Given the description of an element on the screen output the (x, y) to click on. 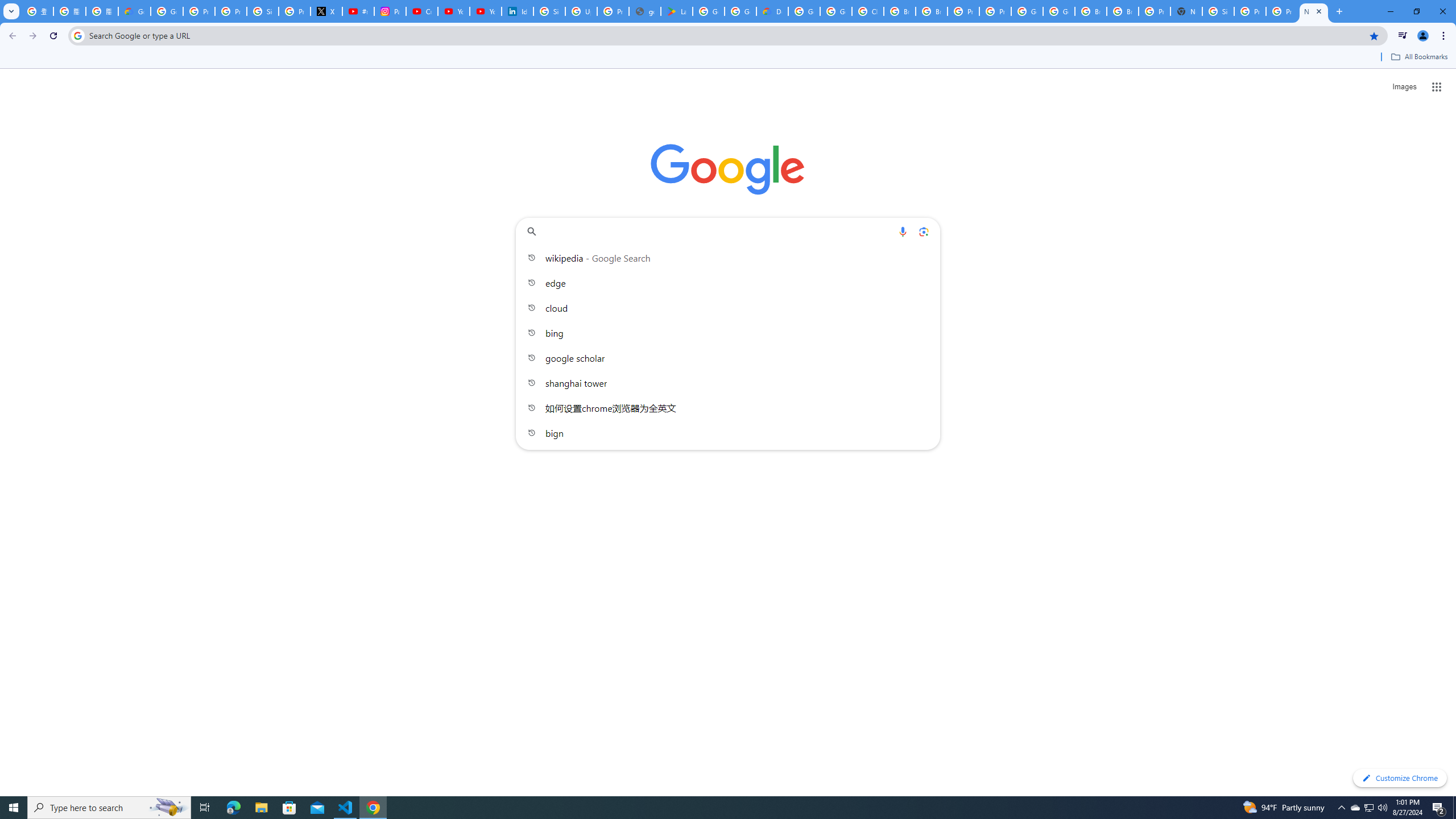
X (326, 11)
Google Cloud Platform (1027, 11)
Address and search bar (725, 35)
New Tab (1185, 11)
Search by image (922, 230)
YouTube Culture & Trends - YouTube Top 10, 2021 (485, 11)
Bookmarks (728, 58)
